Given the description of an element on the screen output the (x, y) to click on. 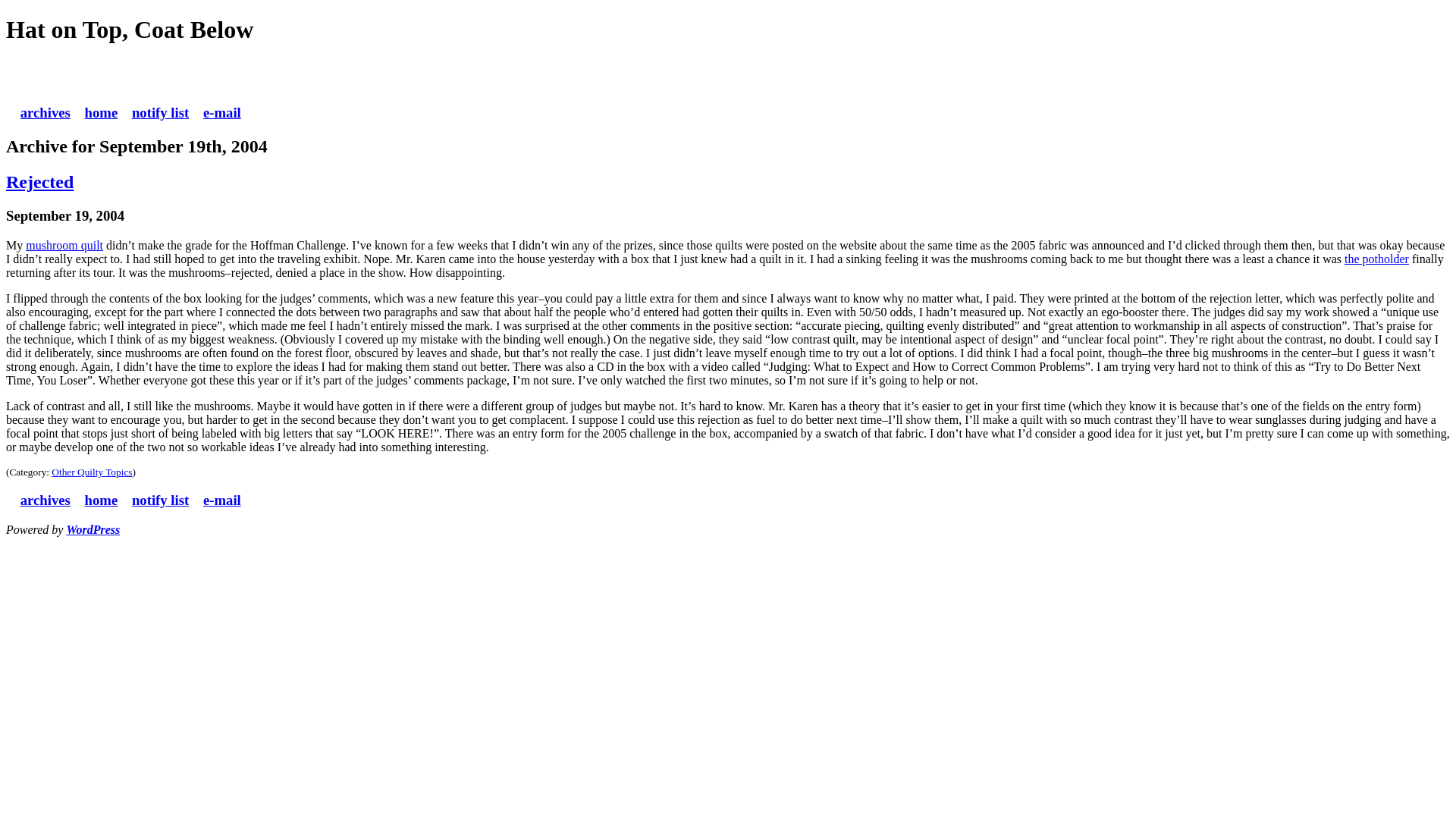
mushroom quilt (64, 245)
Rejected (39, 181)
archives (44, 499)
home (100, 499)
e-mail (222, 499)
notify list (160, 499)
home (100, 112)
the potholder (1376, 258)
notify list (160, 112)
Other Quilty Topics (91, 471)
